Given the description of an element on the screen output the (x, y) to click on. 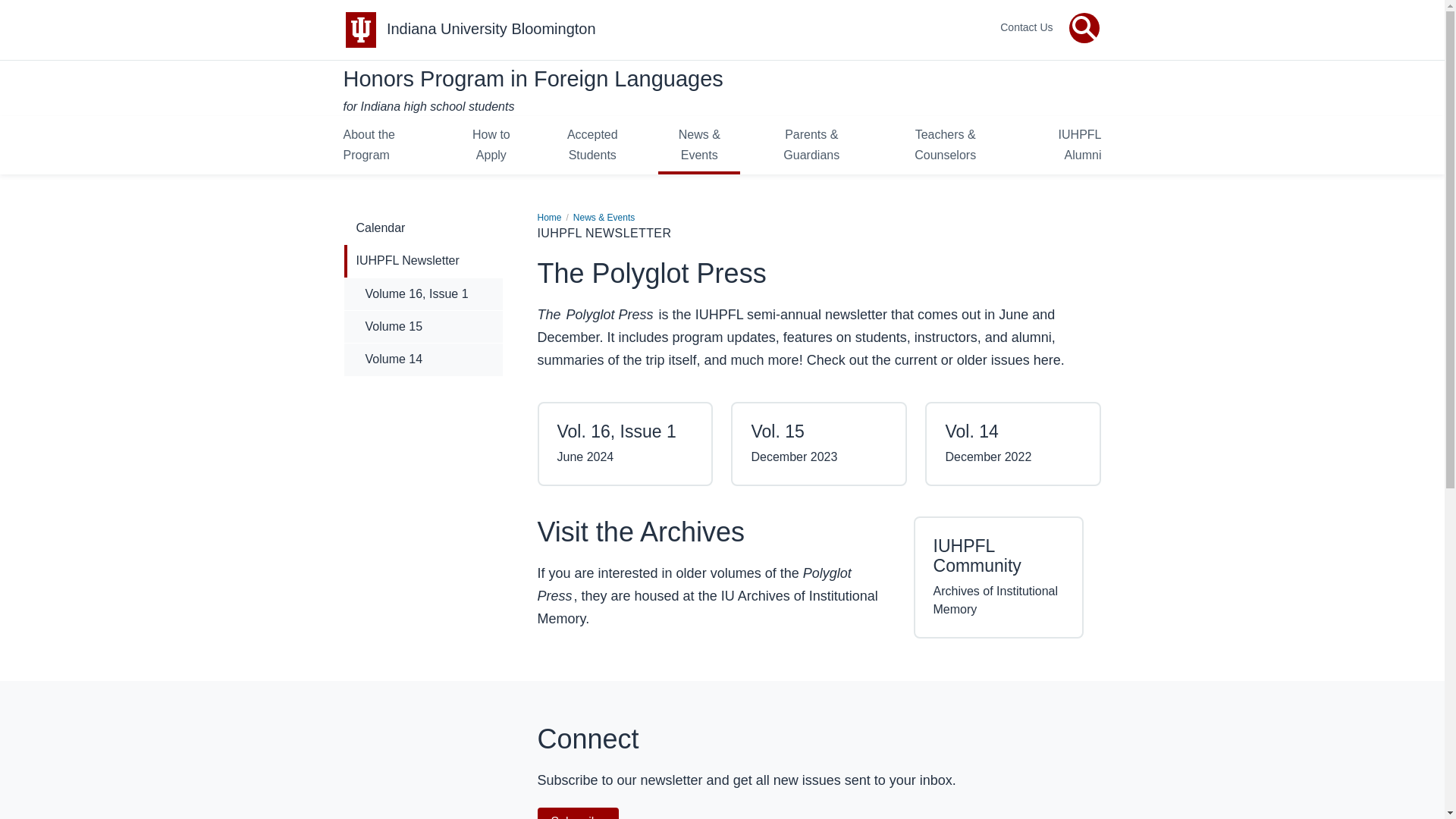
Indiana University Bloomington (491, 28)
Indiana University Bloomington (491, 28)
